Given the description of an element on the screen output the (x, y) to click on. 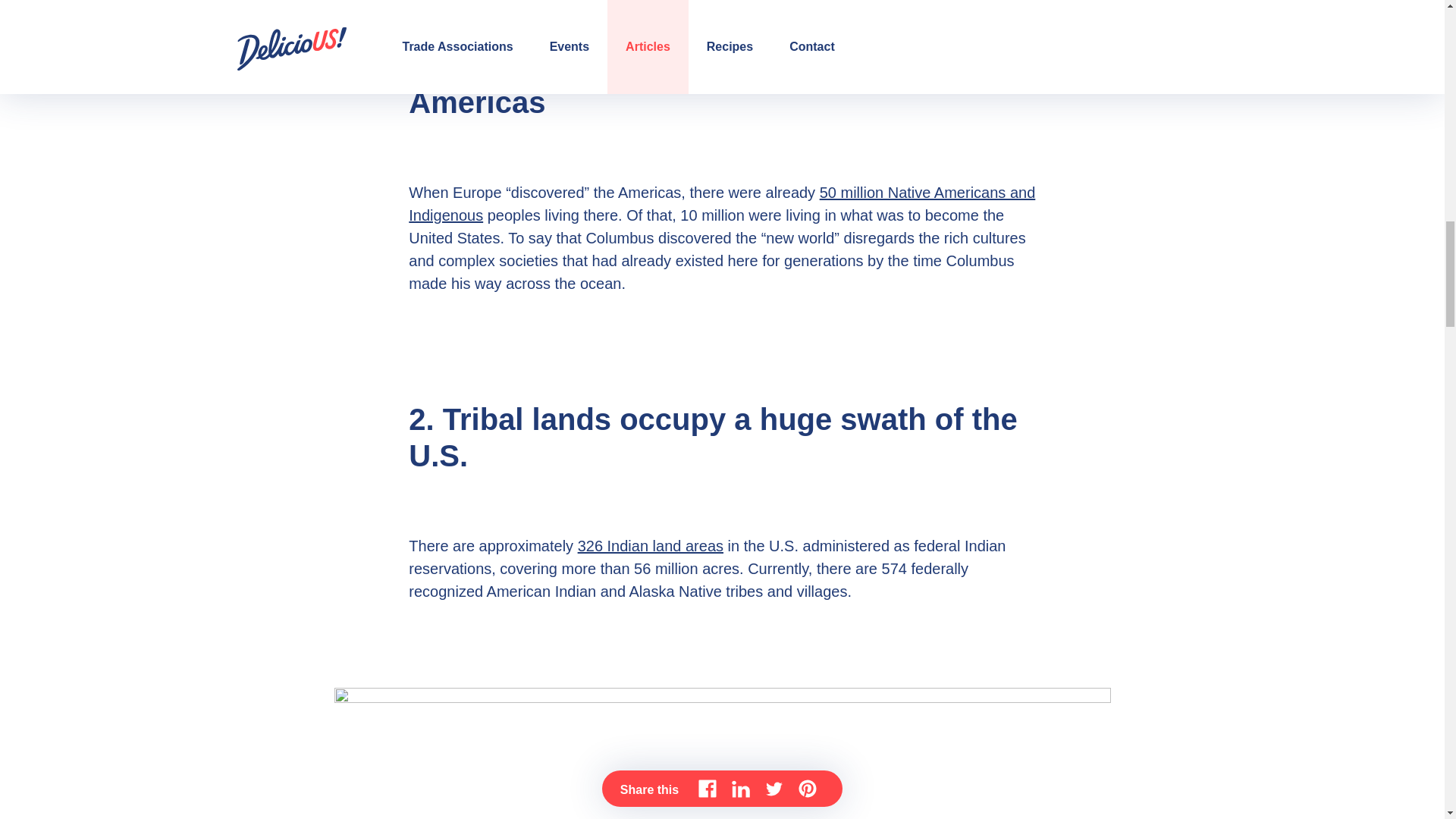
326 Indian land areas (650, 545)
50 million Native Americans and Indigenous (722, 203)
